Given the description of an element on the screen output the (x, y) to click on. 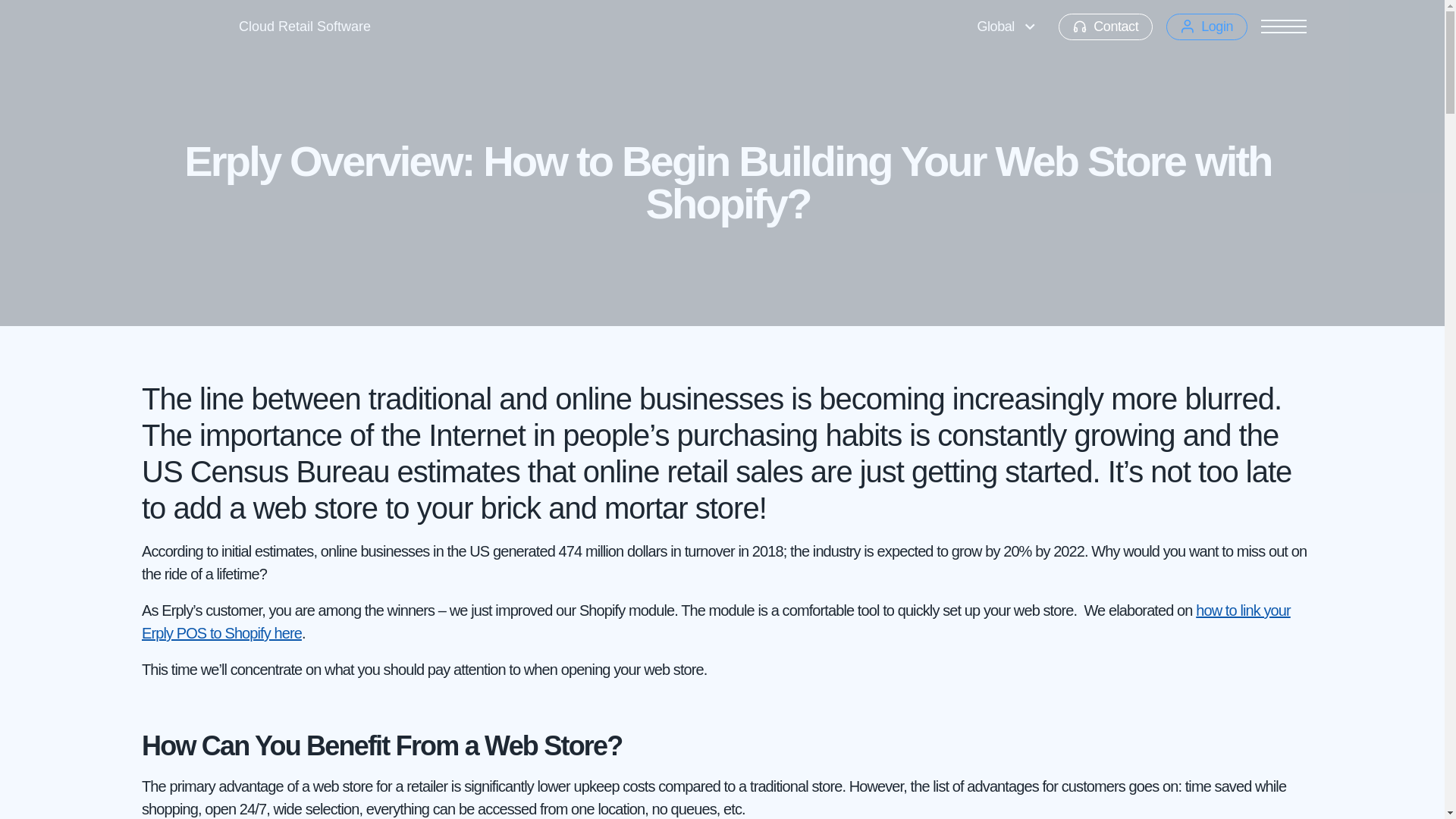
Contact (1105, 26)
Back to Home Page (176, 26)
how to link your Erply POS to Shopify here (715, 621)
Login (1206, 26)
